Given the description of an element on the screen output the (x, y) to click on. 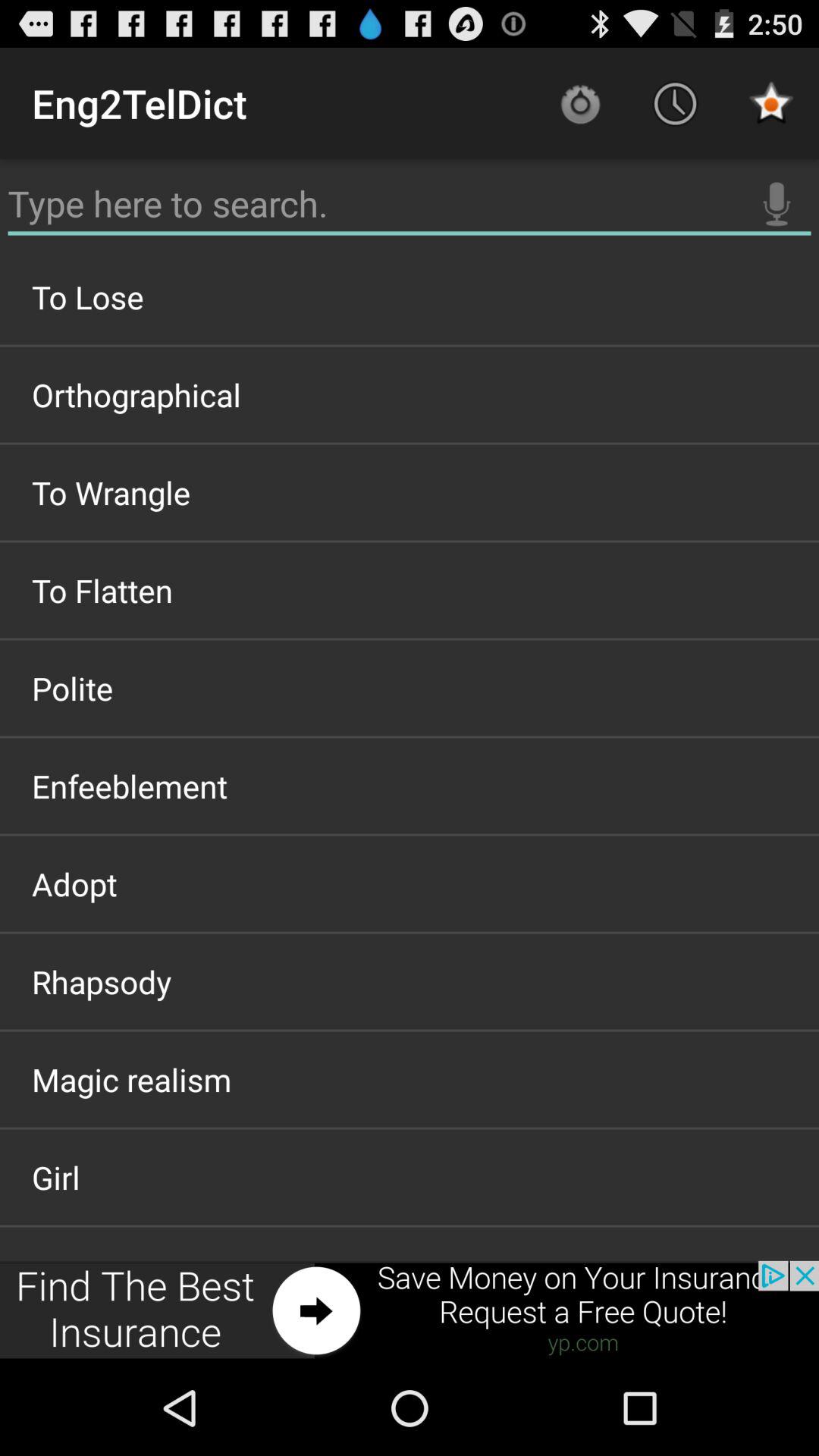
click item above wolfdog item (409, 1177)
